Given the description of an element on the screen output the (x, y) to click on. 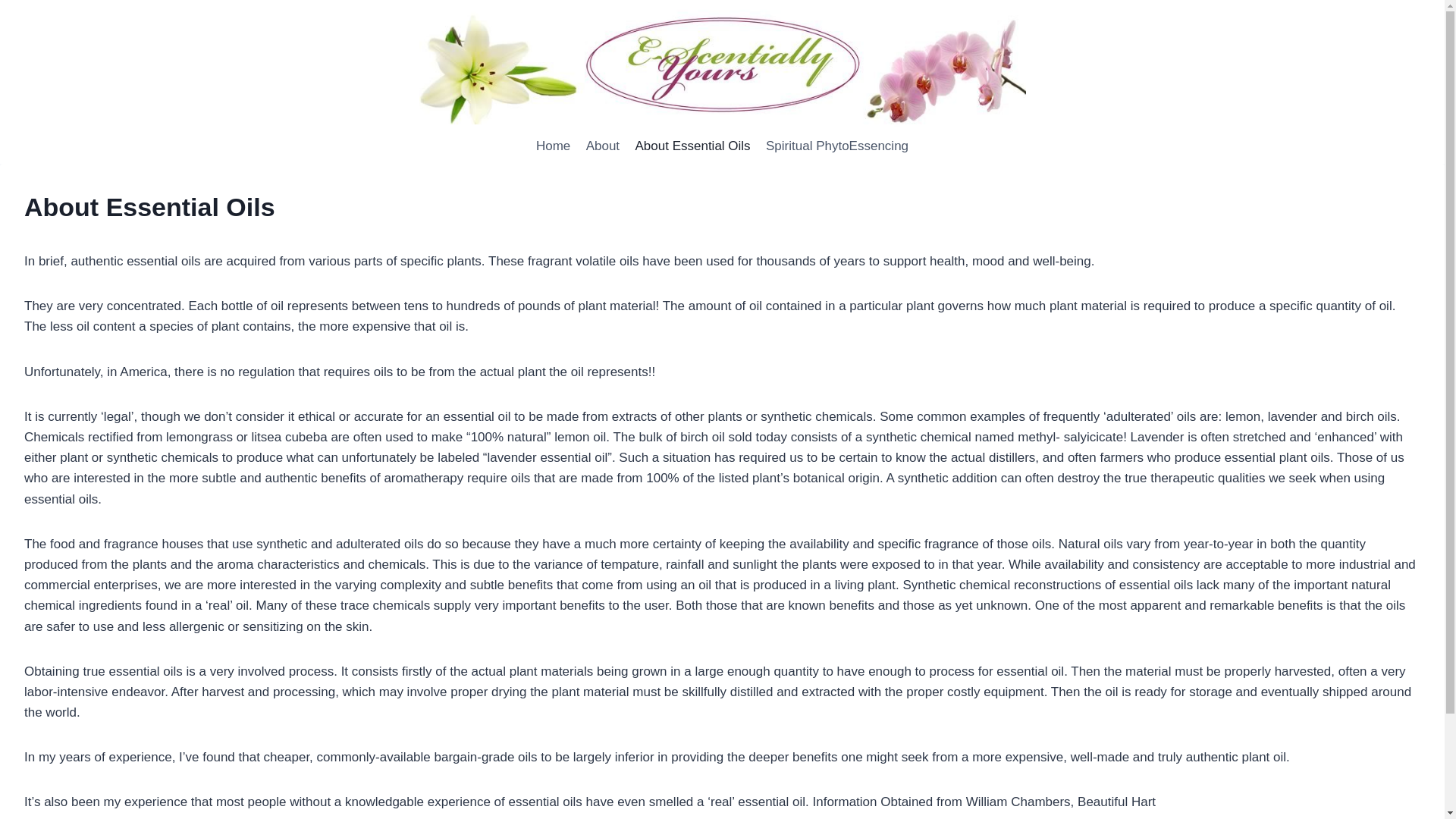
About (602, 145)
Home (553, 145)
About Essential Oils (692, 145)
Spiritual PhytoEssencing (836, 145)
